Given the description of an element on the screen output the (x, y) to click on. 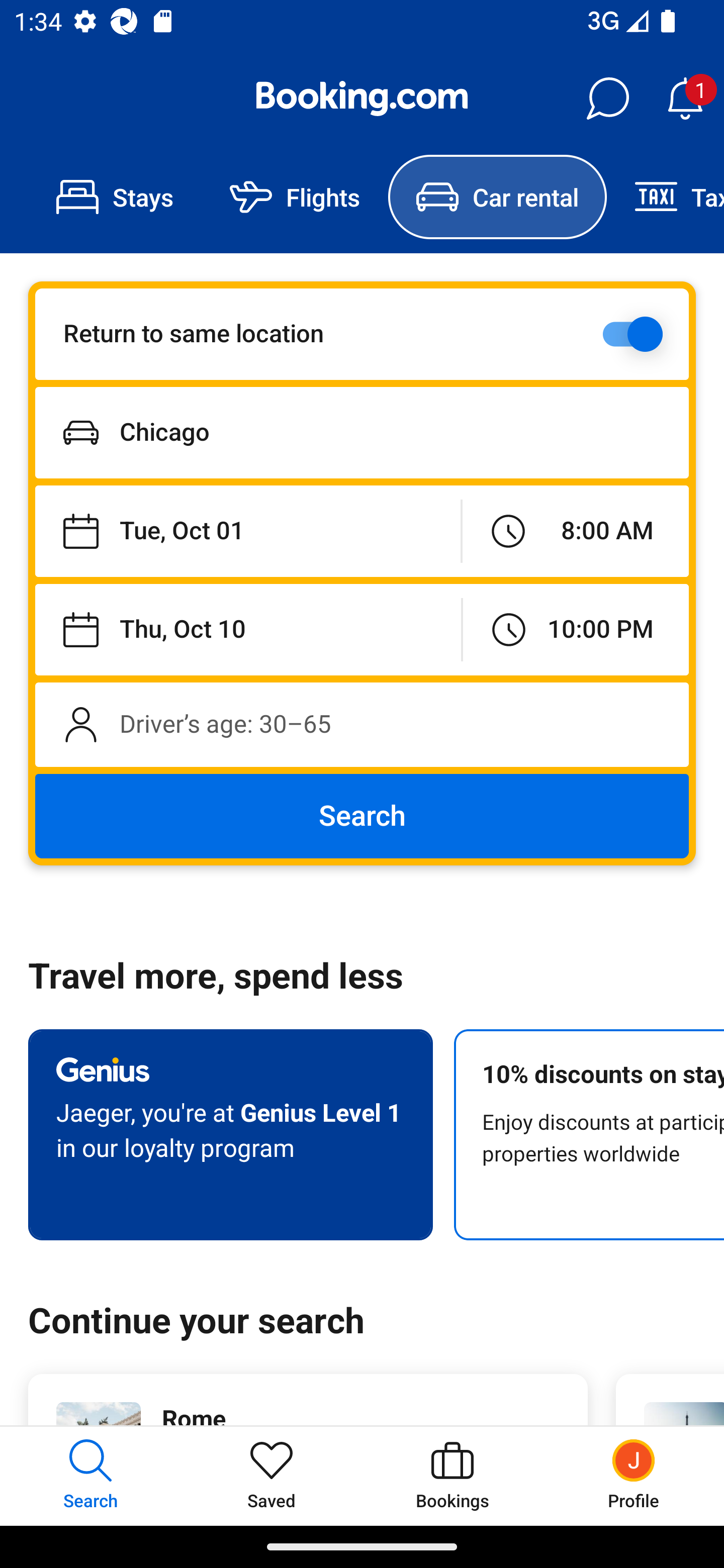
Messages (607, 98)
Notifications (685, 98)
Stays (114, 197)
Flights (294, 197)
Car rental (497, 197)
Taxi (665, 197)
Pick-up location: Text(name=Chicago) (361, 432)
Pick-up date: 2024-10-01 (247, 531)
Pick-up time: 08:00:00.000 (575, 531)
Drop-off date: 2024-10-10 (248, 629)
Drop-off time: 22:00:00.000 (575, 629)
Enter the driver's age (361, 724)
Search (361, 815)
Saved (271, 1475)
Bookings (452, 1475)
Profile (633, 1475)
